Given the description of an element on the screen output the (x, y) to click on. 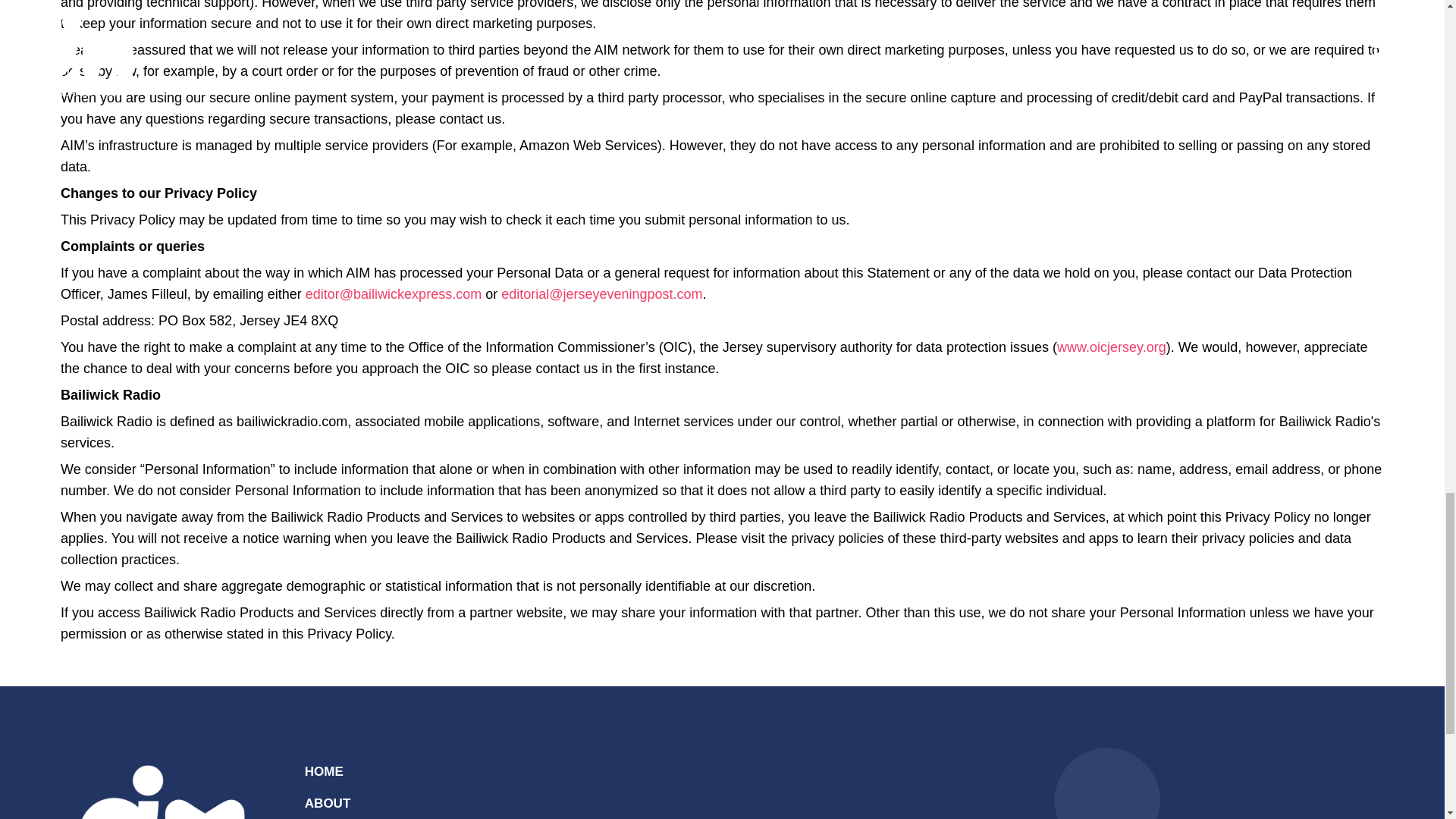
HOME (323, 771)
www.oicjersey.org (1111, 346)
ABOUT (327, 803)
